Given the description of an element on the screen output the (x, y) to click on. 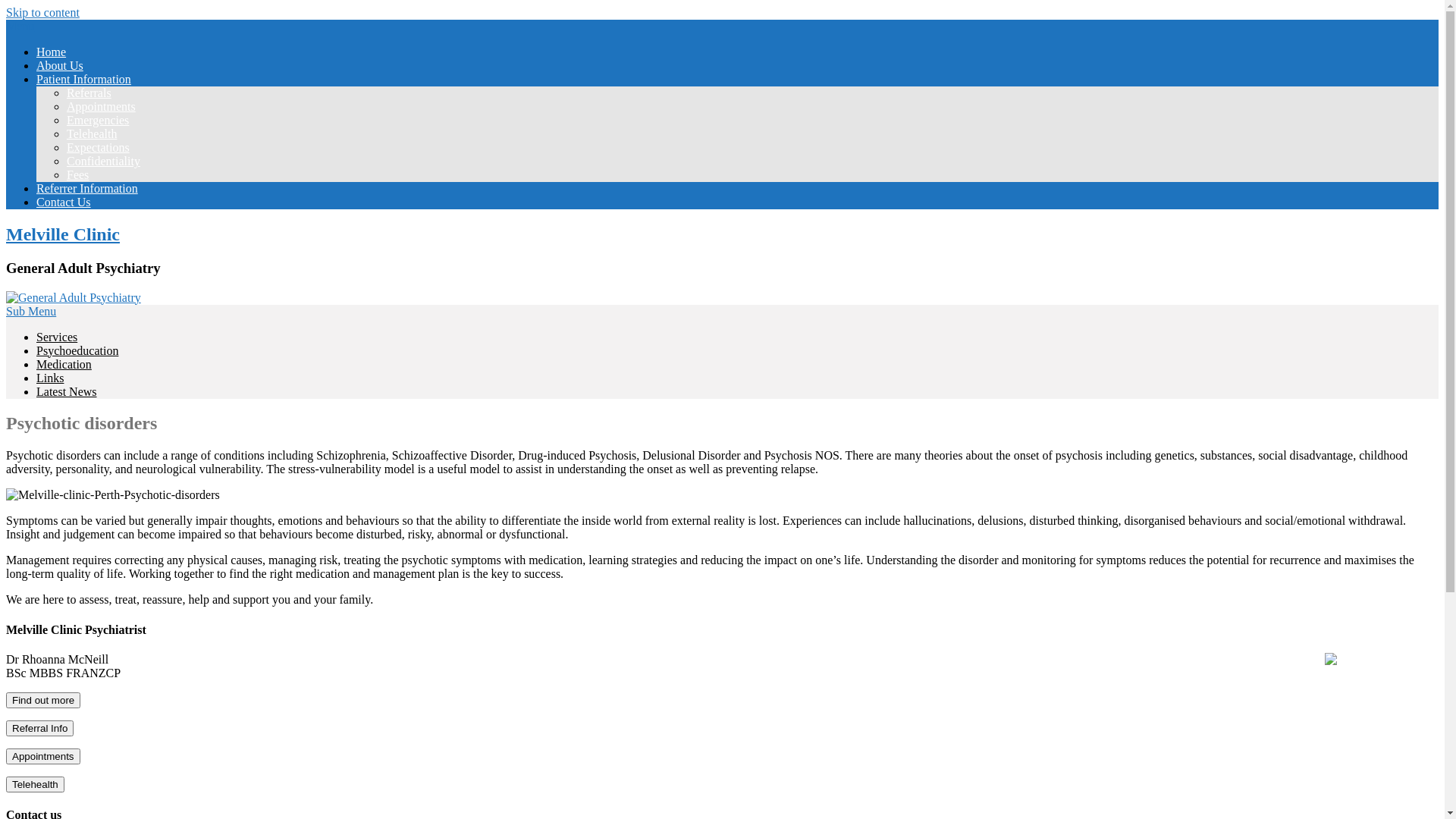
Referrer Information Element type: text (87, 188)
Referral Info Element type: text (39, 727)
Referral Info Element type: text (39, 728)
Home Element type: text (50, 51)
General Adult Psychiatry Element type: hover (73, 297)
Appointments Element type: text (100, 106)
Psychoeducation Element type: text (77, 350)
Skip to content Element type: text (42, 12)
Latest News Element type: text (66, 391)
Expectations Element type: text (97, 147)
Contact Us Element type: text (63, 201)
Sub Menu Element type: text (31, 310)
Appointments Element type: text (43, 755)
Telehealth Element type: text (35, 784)
Telehealth Element type: text (35, 783)
Telehealth Element type: text (91, 133)
Confidentiality Element type: text (103, 160)
Menu Element type: text (20, 25)
Referrals Element type: text (88, 92)
Find out more Element type: text (43, 699)
Patient Information Element type: text (83, 78)
Services Element type: text (56, 336)
About Us Element type: text (59, 65)
Melville Clinic Element type: text (62, 234)
Medication Element type: text (63, 363)
Fees Element type: text (77, 174)
Appointments Element type: text (43, 756)
Find out more Element type: text (43, 700)
Emergencies Element type: text (97, 119)
Links Element type: text (49, 377)
